Given the description of an element on the screen output the (x, y) to click on. 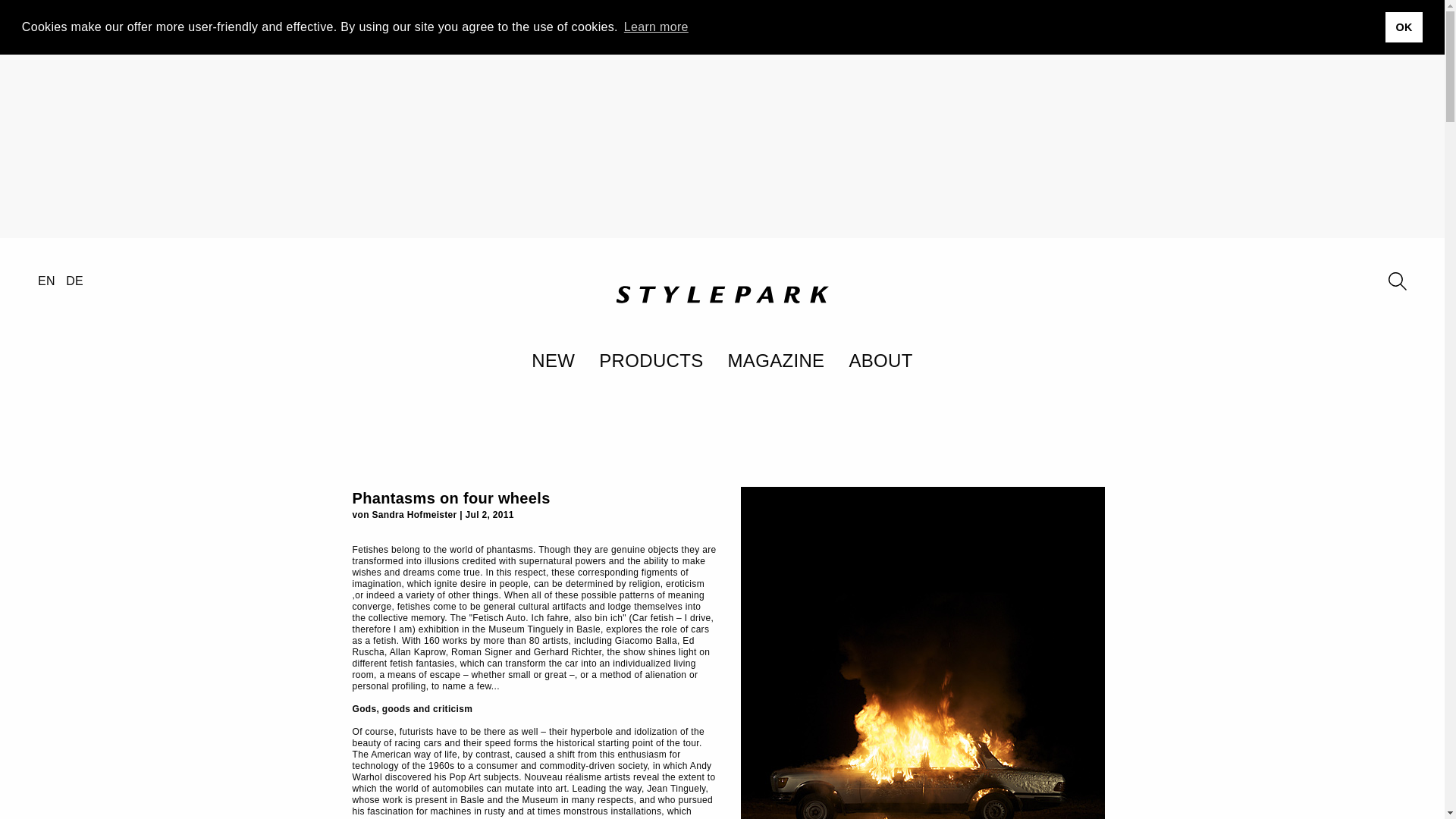
OK (1404, 27)
PRODUCTS (650, 360)
EN (46, 280)
NEW (552, 360)
search (1397, 280)
search (1397, 280)
Learn more (655, 26)
MAGAZINE (776, 360)
stylepark-logo (721, 293)
